Given the description of an element on the screen output the (x, y) to click on. 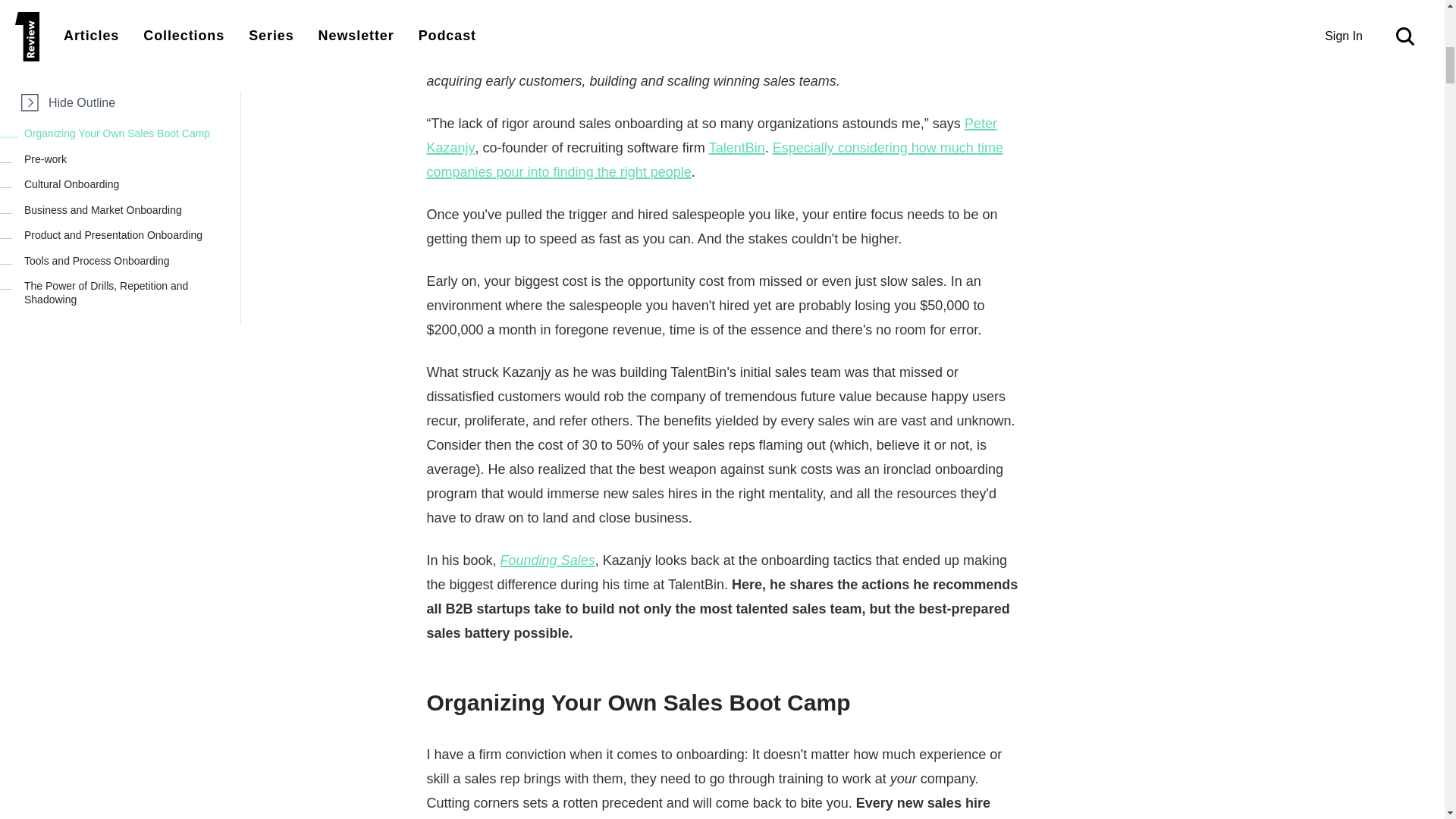
Pre-work (129, 6)
Product and Presentation Onboarding (129, 78)
sales onboarding and training chapter (802, 32)
The Power of Drills, Repetition and Shadowing (129, 135)
Peter Kazanjy (570, 7)
Founding Sales (473, 56)
TalentBin (737, 147)
Peter Kazanjy (710, 135)
Atrium (724, 7)
